Given the description of an element on the screen output the (x, y) to click on. 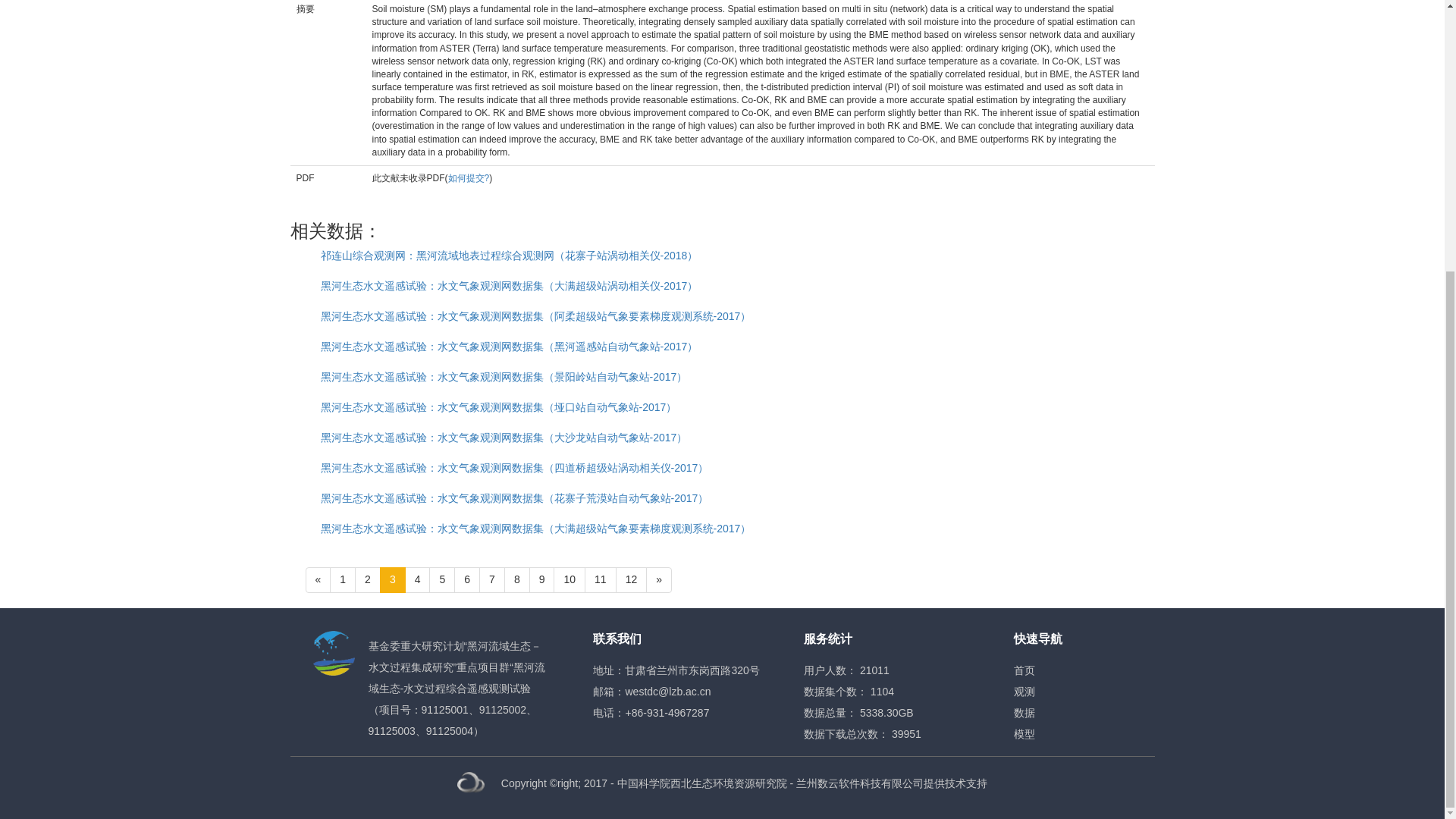
2 (367, 579)
12 (631, 579)
10 (569, 579)
9 (541, 579)
4 (417, 579)
1 (342, 579)
6 (467, 579)
5 (441, 579)
7 (492, 579)
11 (600, 579)
